Given the description of an element on the screen output the (x, y) to click on. 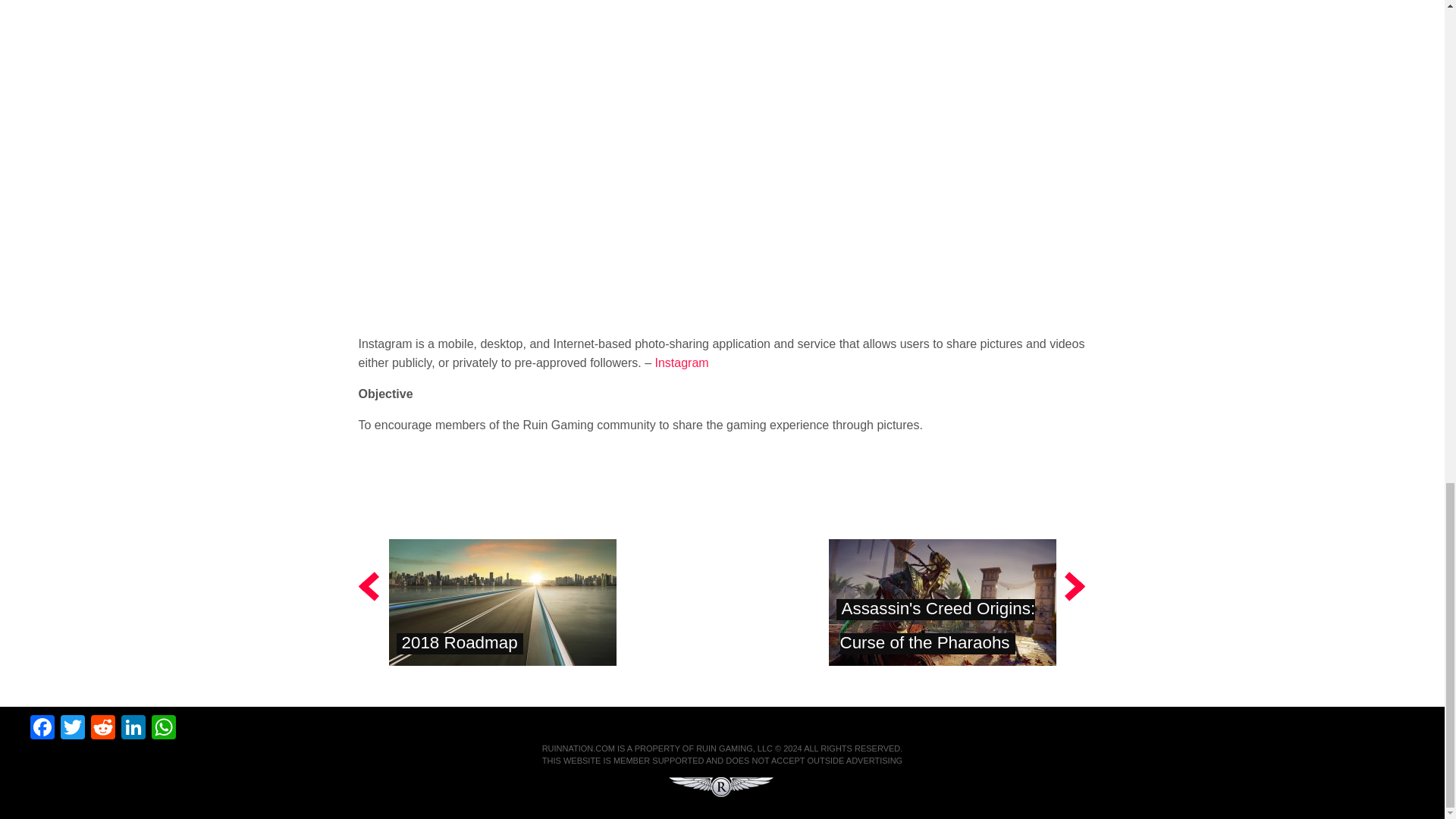
Facebook (42, 728)
Facebook (42, 728)
Reddit (102, 728)
Twitter (72, 728)
Reddit (102, 728)
Instagram (682, 362)
WhatsApp (163, 728)
Twitter (72, 728)
Assassin's Creed Origins: Curse of the Pharaohs (937, 624)
2018 Roadmap (459, 642)
